Given the description of an element on the screen output the (x, y) to click on. 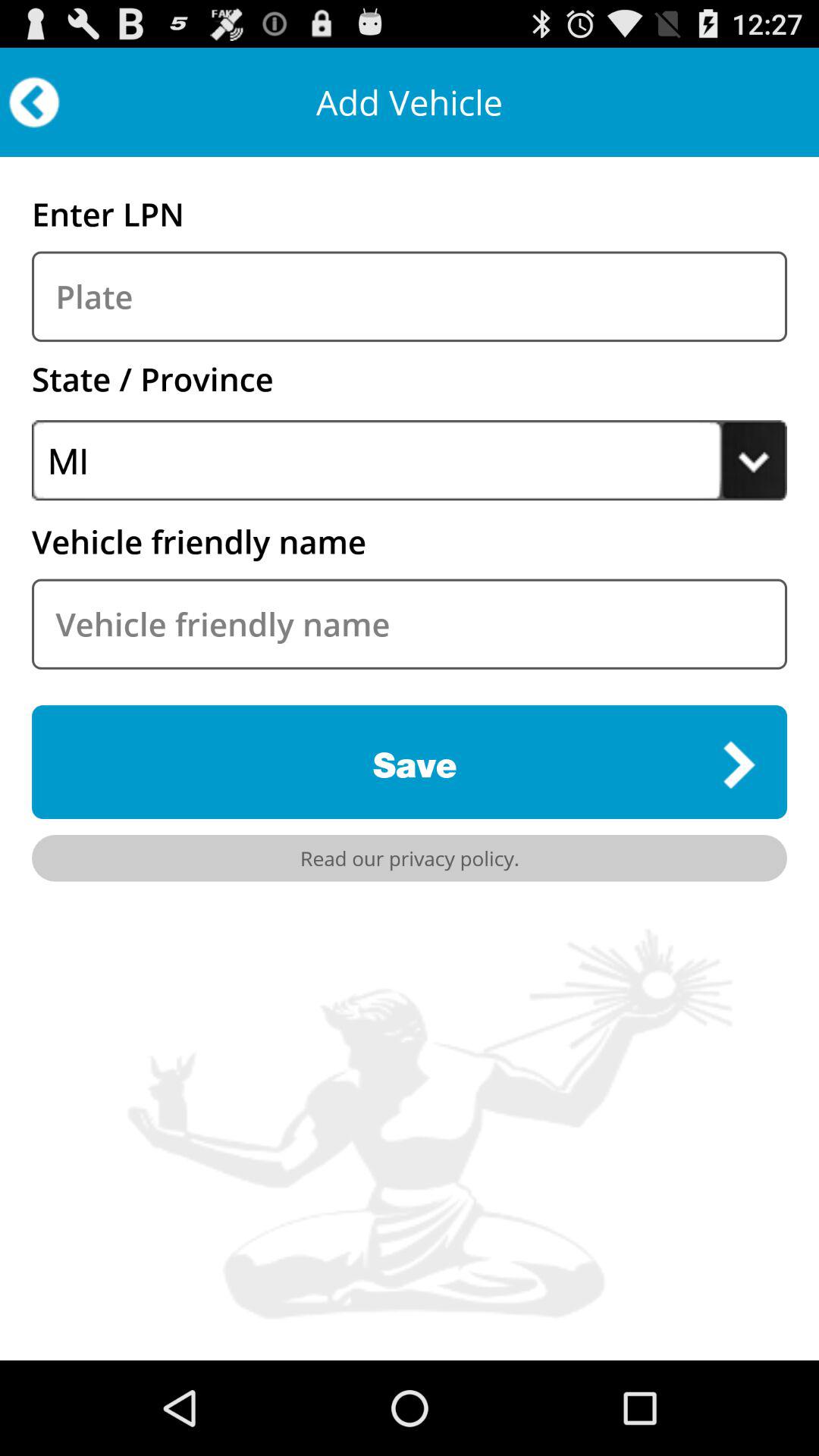
enter the plate box (409, 296)
